Given the description of an element on the screen output the (x, y) to click on. 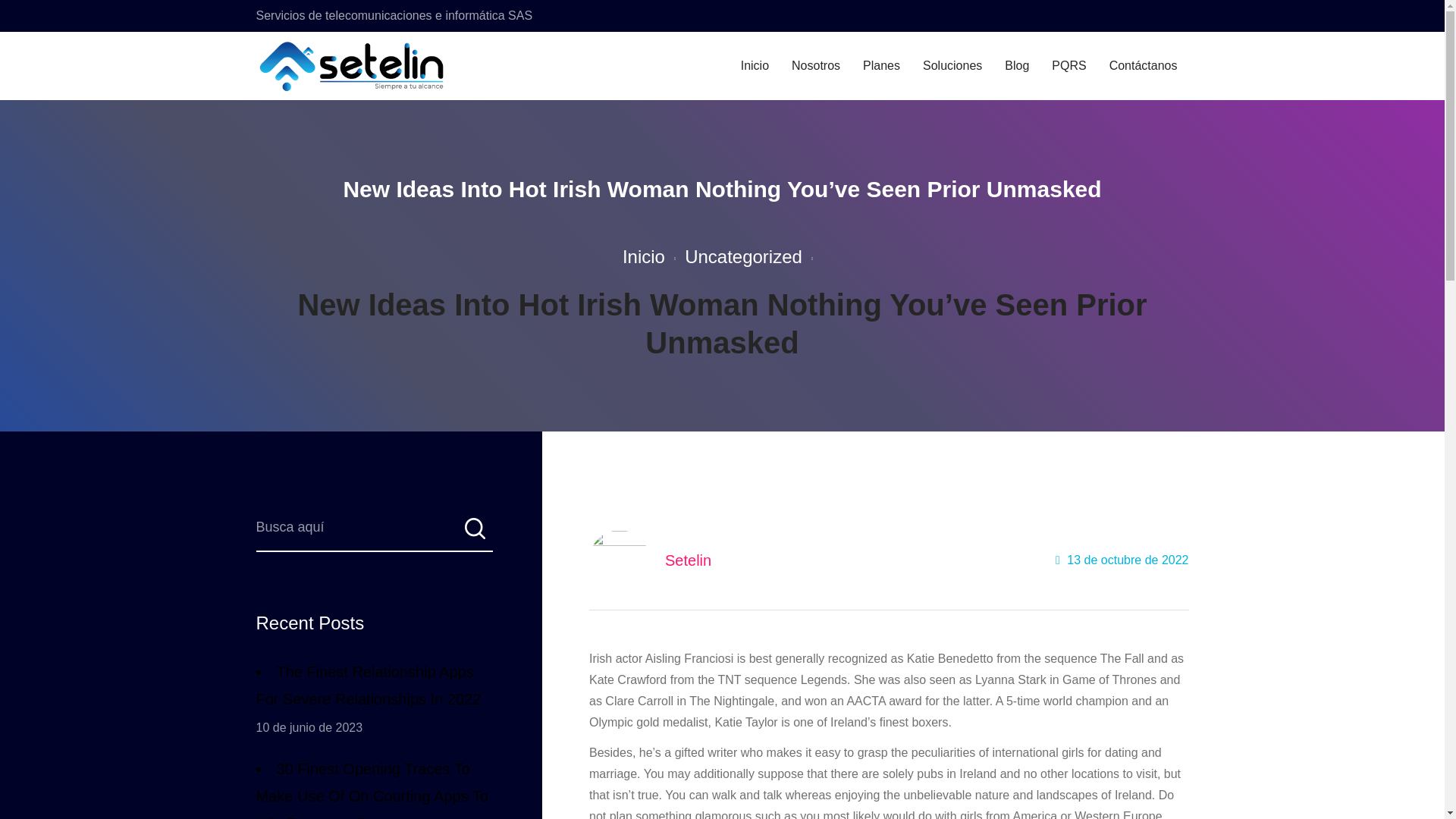
Setelin SAS (339, 66)
Uncategorized (743, 256)
Setelin SAS (352, 66)
Ir (473, 533)
Ver todos los posts deSetelin (688, 559)
Inicio (644, 256)
Soluciones (951, 65)
Setelin (688, 559)
Nosotros (815, 65)
Ir (473, 533)
